Given the description of an element on the screen output the (x, y) to click on. 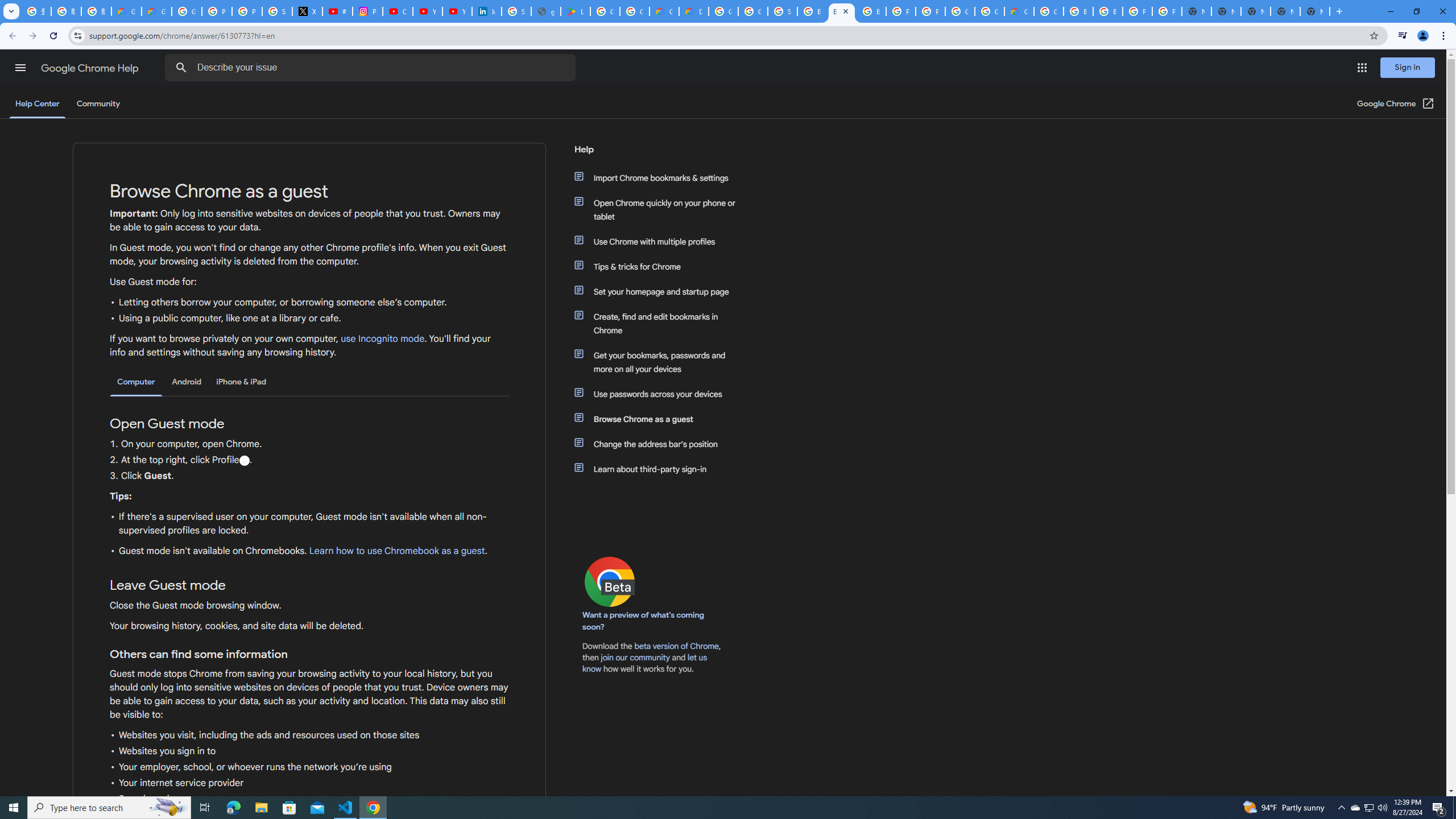
Sign in - Google Accounts (515, 11)
Learn about third-party sign-in (661, 469)
#nbabasketballhighlights - YouTube (337, 11)
Google apps (1362, 67)
New Tab (1314, 11)
Chrome (1445, 35)
View site information (77, 35)
Android (186, 381)
Learn how to use Chromebook as a guest (396, 550)
Google Cloud Privacy Notice (156, 11)
google_privacy_policy_en.pdf (545, 11)
Browse Chrome as a guest - Computer - Google Chrome Help (841, 11)
join our community (634, 657)
Address and search bar (725, 35)
Browse Chrome as a guest (661, 419)
